Given the description of an element on the screen output the (x, y) to click on. 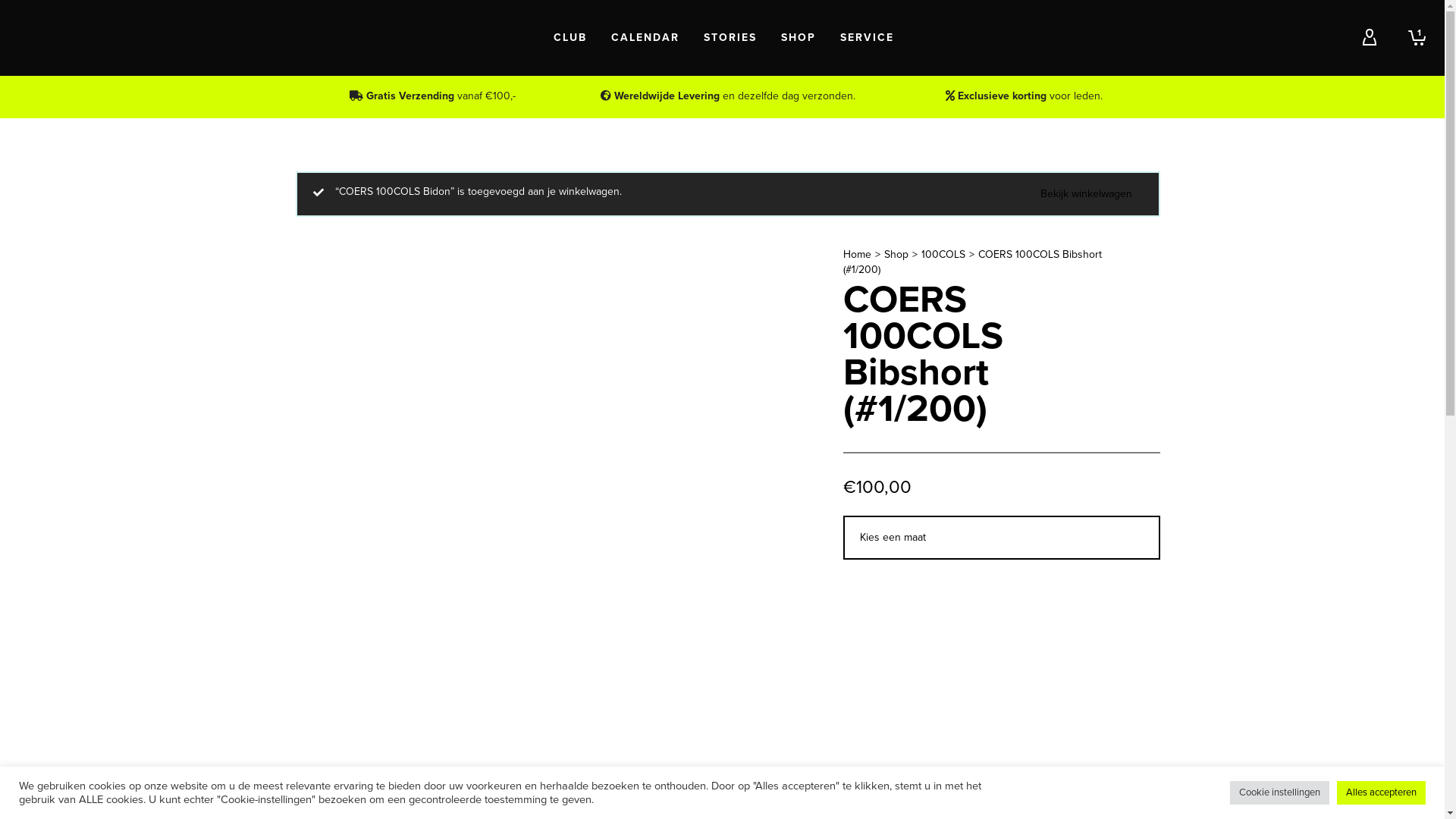
100COLS Element type: text (943, 254)
TOEVOEGEN AAN WINKELWAGEN Element type: text (968, 654)
Shop Element type: text (896, 254)
CALENDAR Element type: text (644, 37)
Home Element type: text (857, 254)
Alles accepteren Element type: text (1380, 792)
Bekijk winkelwagen Element type: text (1085, 193)
1 Element type: text (1412, 37)
STORIES Element type: text (730, 37)
SHOP Element type: text (798, 37)
Cookie instellingen Element type: text (1279, 792)
SERVICE Element type: text (866, 37)
CLUB Element type: text (570, 37)
